Given the description of an element on the screen output the (x, y) to click on. 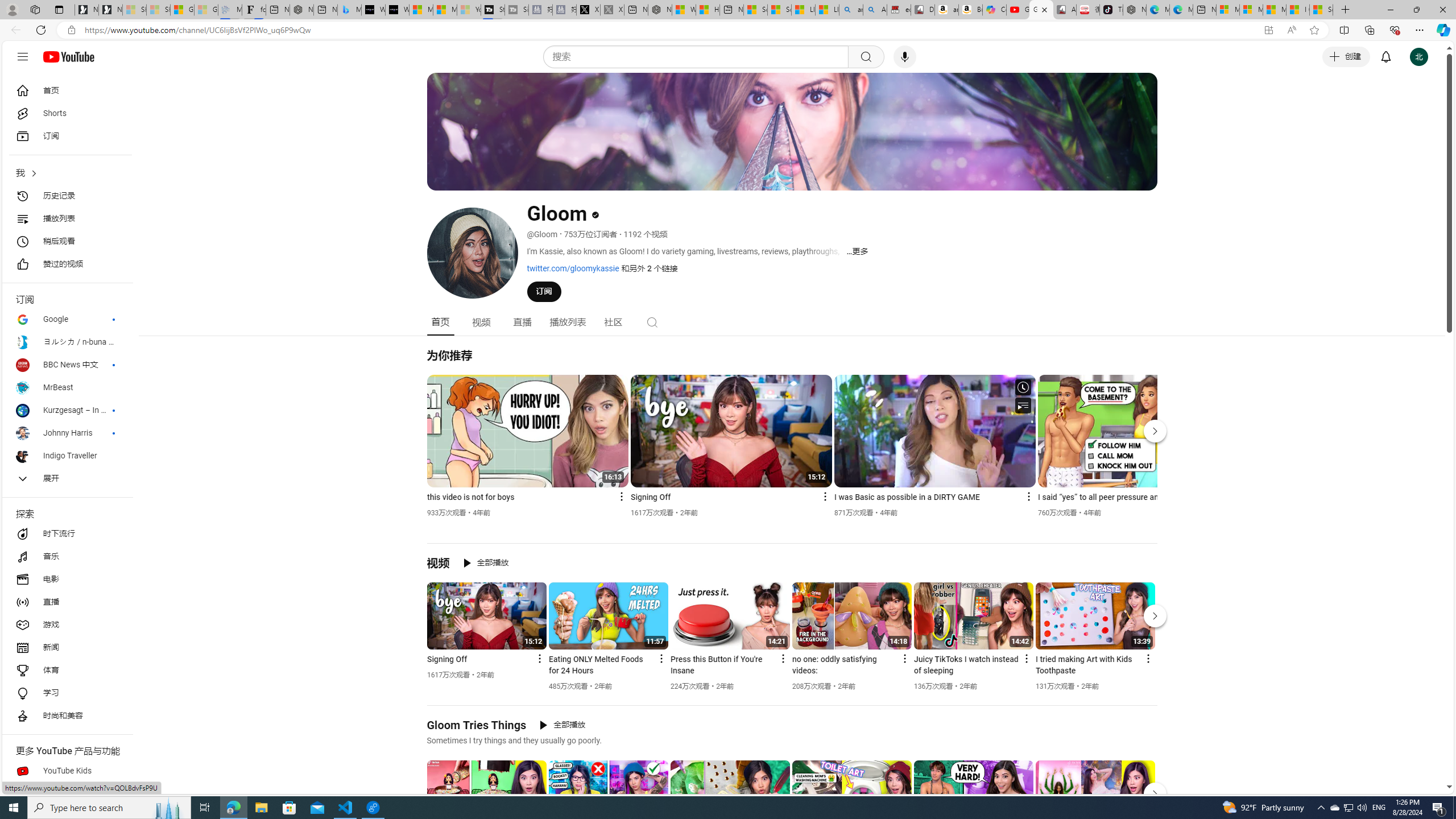
Gloom - YouTube (1041, 9)
App available. Install YouTube (1268, 29)
amazon.in/dp/B0CX59H5W7/?tag=gsmcom05-21 (946, 9)
Nordace - Best Sellers (1134, 9)
